Given the description of an element on the screen output the (x, y) to click on. 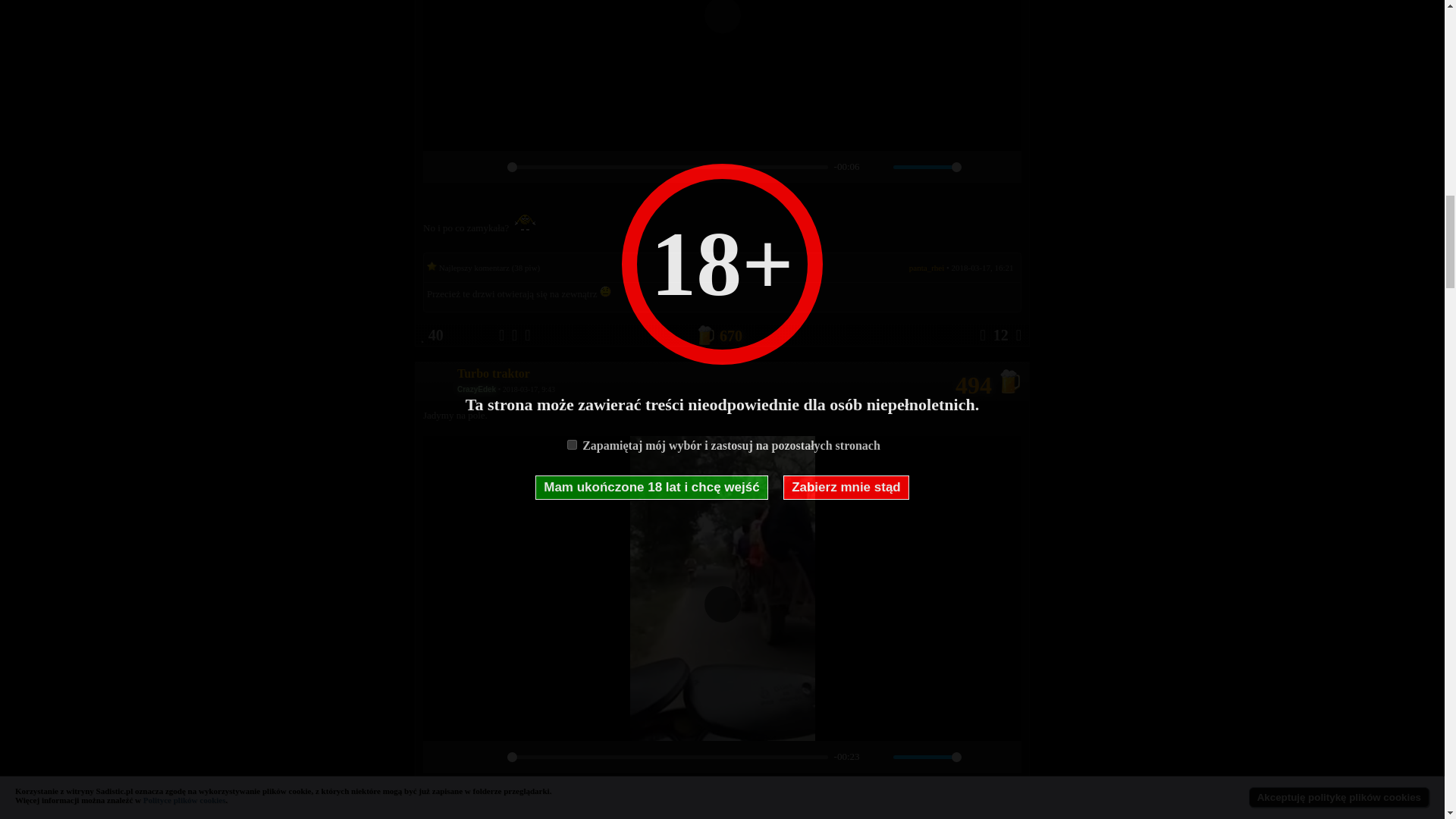
0 (667, 166)
1 (926, 166)
1 (926, 757)
0 (667, 757)
